Given the description of an element on the screen output the (x, y) to click on. 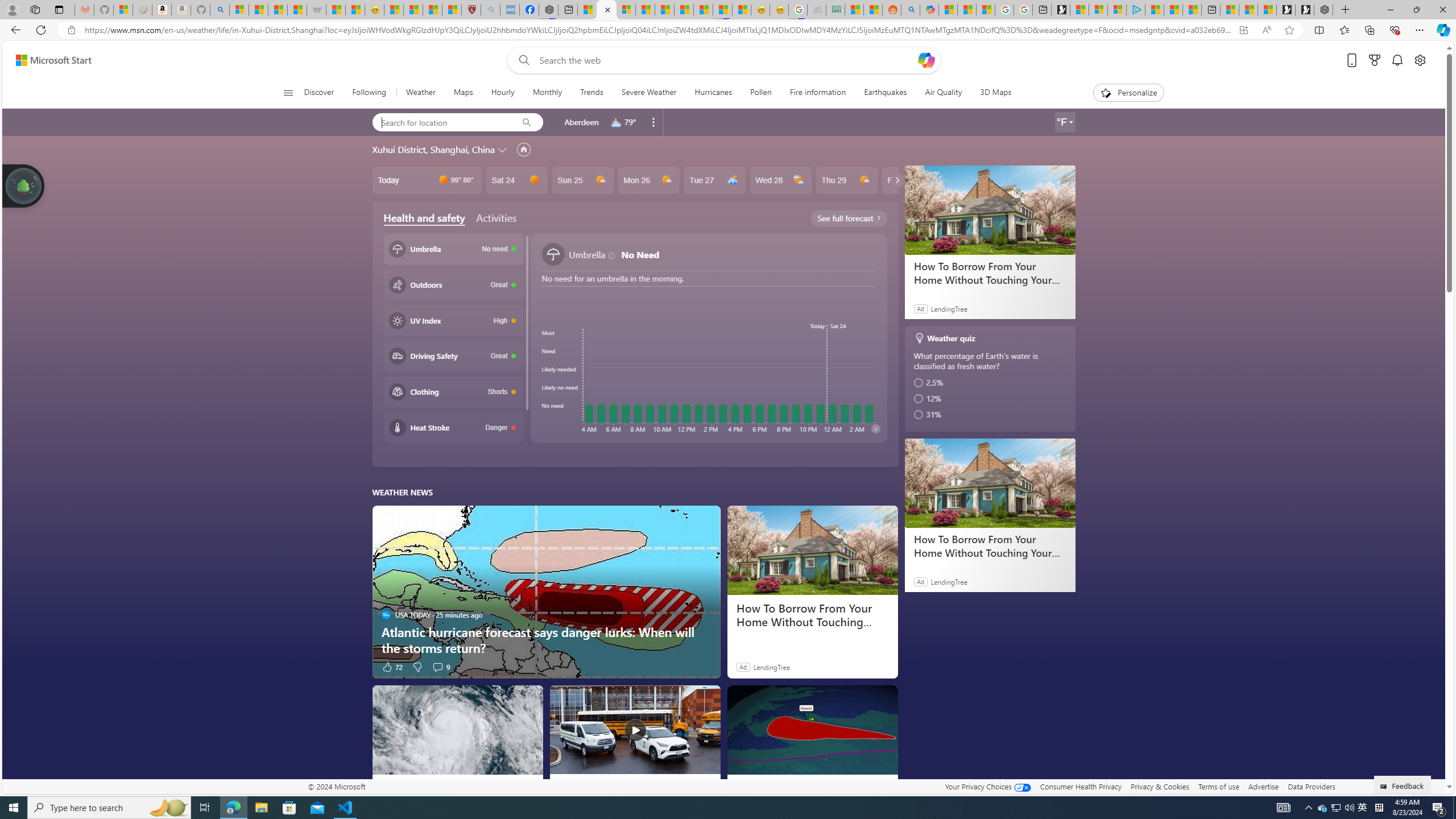
These 3 Stocks Pay You More Than 5% to Own Them (1192, 9)
Heat stroke Danger (453, 427)
Trends (590, 92)
Umbrella No need (453, 249)
